Given the description of an element on the screen output the (x, y) to click on. 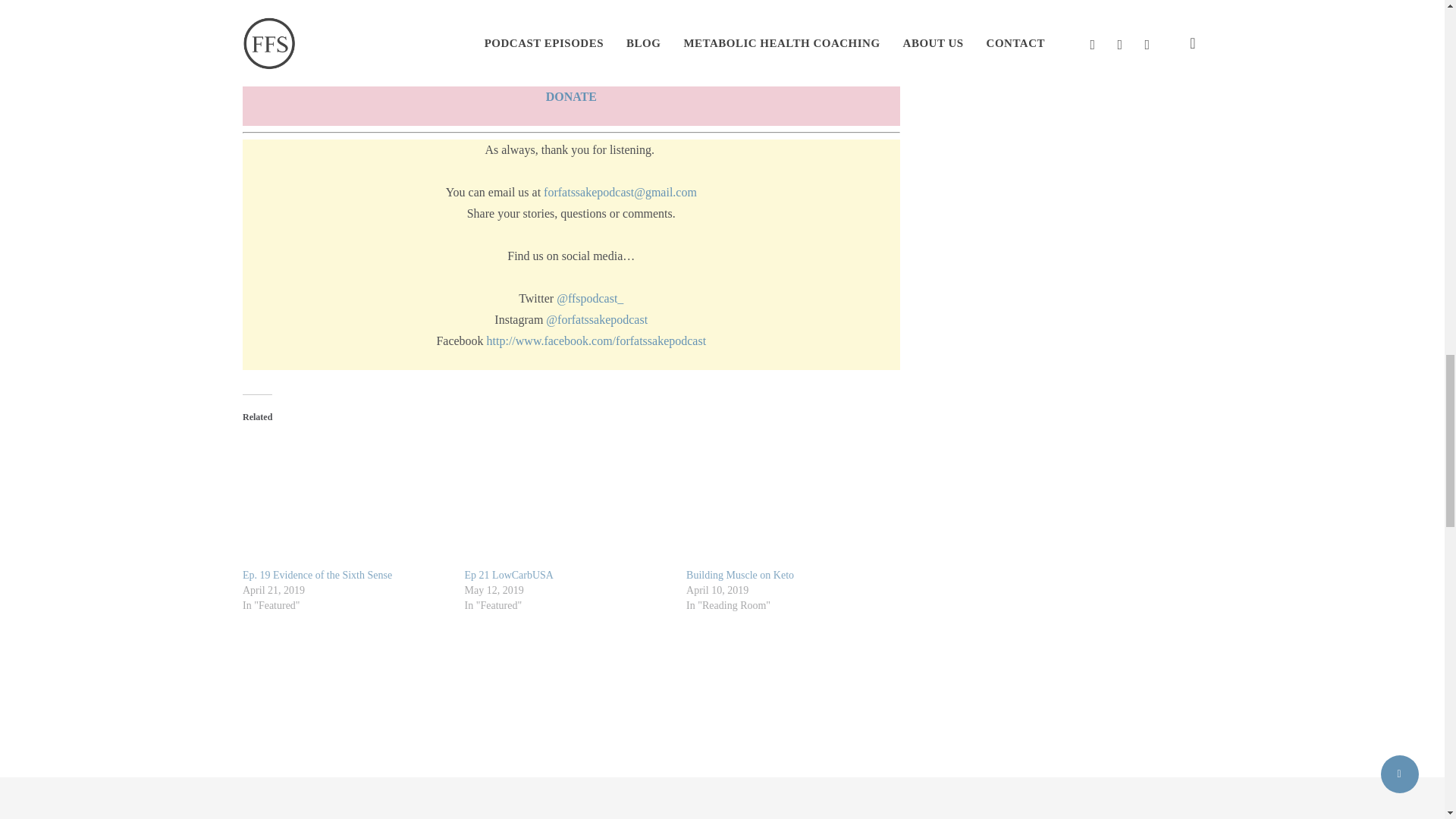
Ep. 19 Evidence of the Sixth Sense (346, 497)
Ep 21 LowCarbUSA (567, 497)
Ep 21 LowCarbUSA (508, 574)
Building Muscle on Keto (789, 497)
Building Muscle on Keto (739, 574)
Ep. 19 Evidence of the Sixth Sense (317, 574)
DONATE (571, 96)
Ep 21 LowCarbUSA (508, 574)
Ep. 19 Evidence of the Sixth Sense (317, 574)
